Given the description of an element on the screen output the (x, y) to click on. 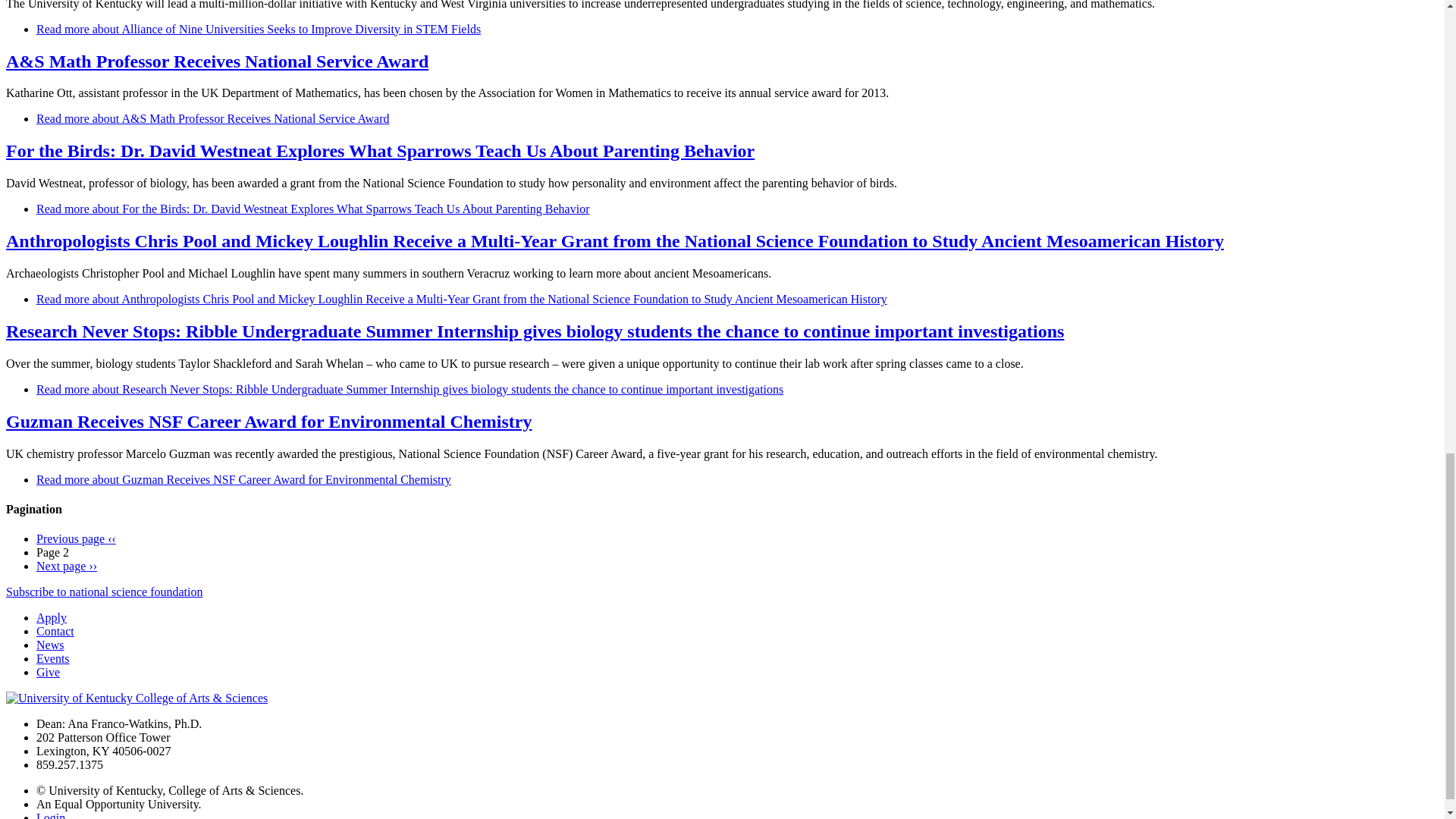
Guzman Receives NSF Career Award for Environmental Chemistry (243, 479)
Go to next page (66, 565)
Go to previous page (76, 538)
